Given the description of an element on the screen output the (x, y) to click on. 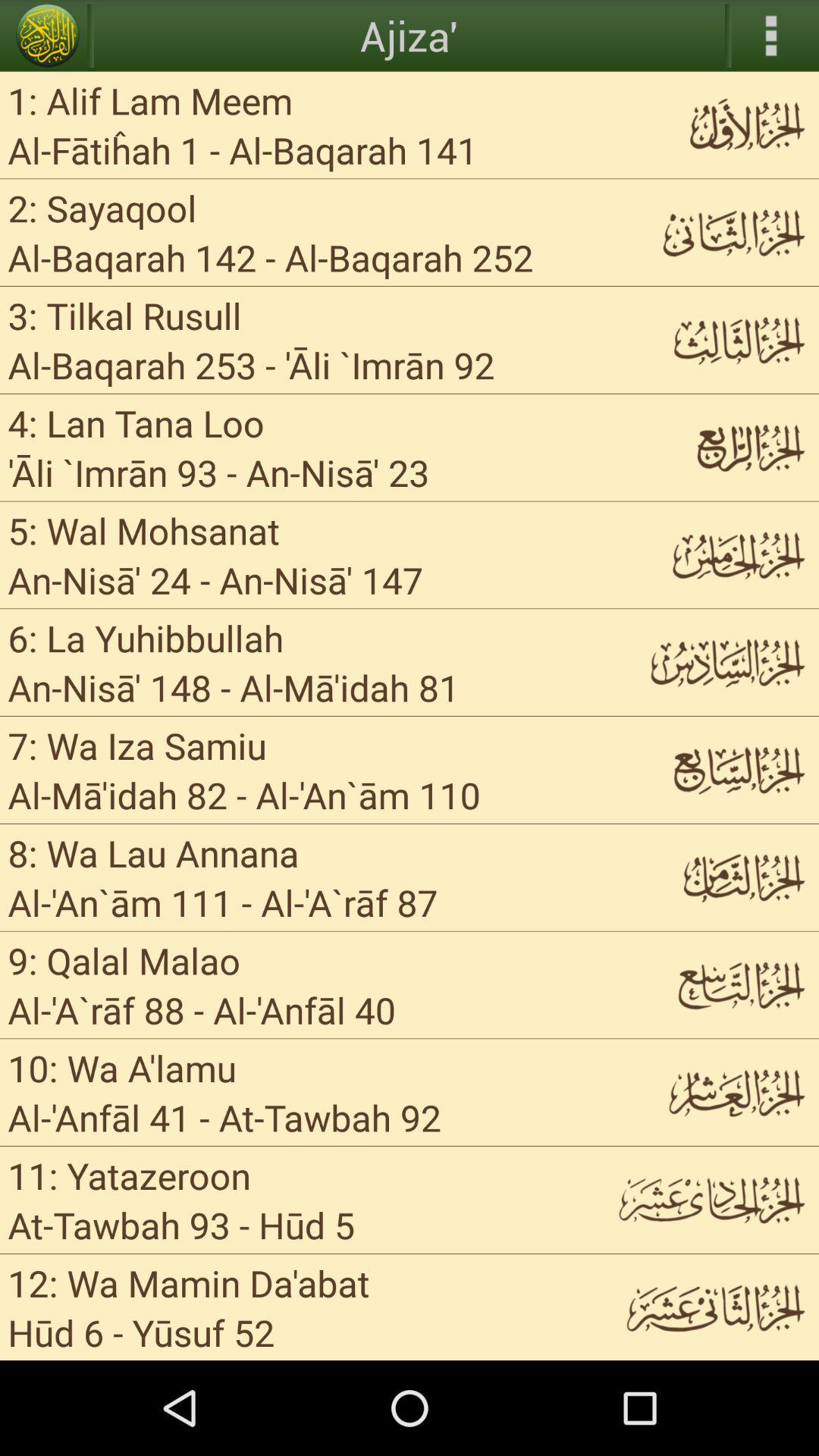
select app above 1 alif lam item (47, 35)
